Given the description of an element on the screen output the (x, y) to click on. 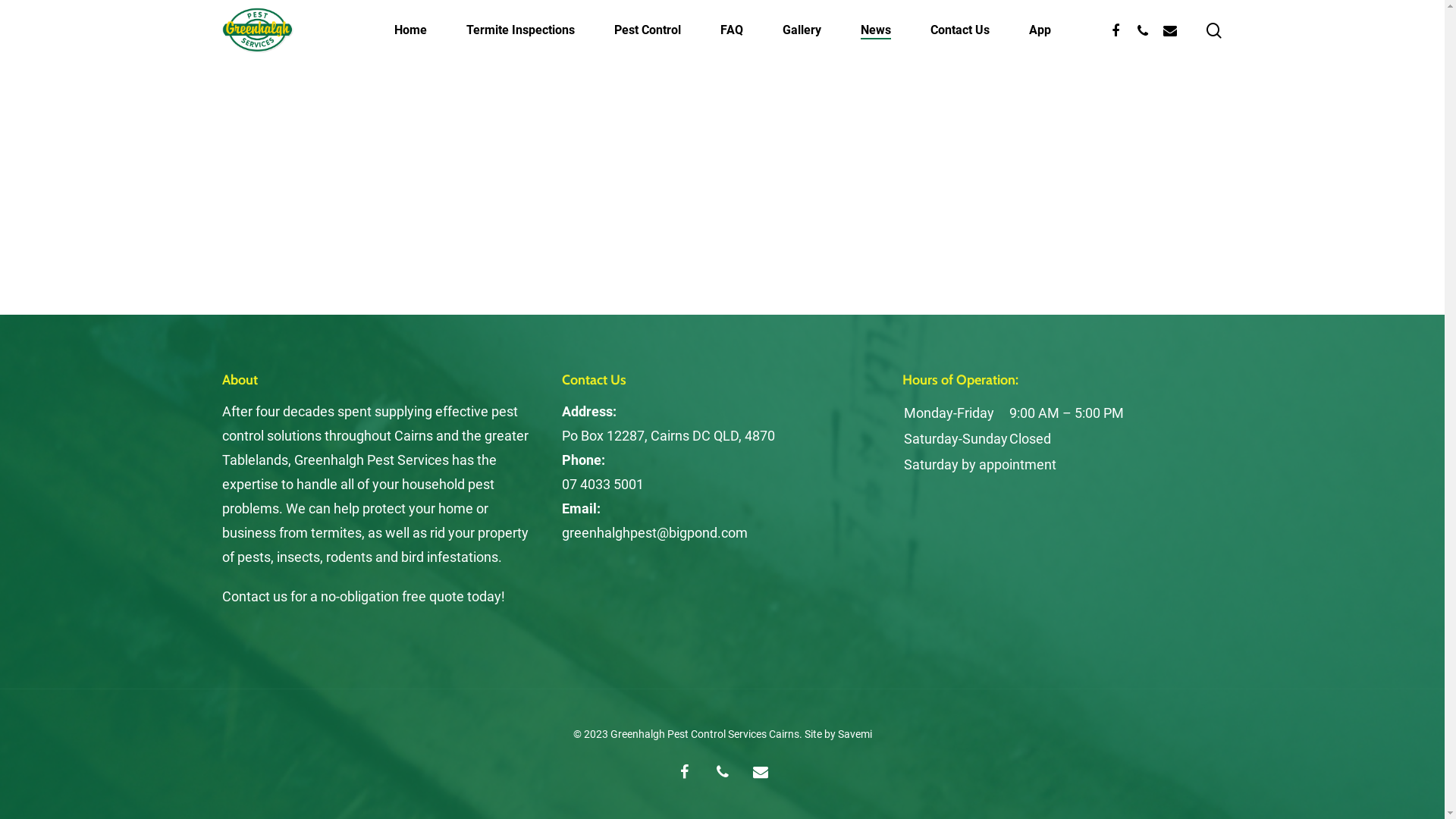
App Element type: text (1039, 30)
Contact us Element type: text (255, 596)
phone Element type: text (1141, 30)
facebook Element type: text (1114, 30)
Savemi Element type: text (854, 734)
email Element type: text (1169, 30)
News Element type: text (874, 30)
phone Element type: text (722, 772)
email Element type: text (760, 772)
Contact Us Element type: text (958, 30)
Home Element type: text (410, 30)
Termite Inspections Element type: text (519, 30)
Gallery Element type: text (801, 30)
Po Box 12287, Cairns DC QLD, 4870 Element type: text (668, 435)
Pest Control Element type: text (647, 30)
FAQ Element type: text (731, 30)
search Element type: text (1213, 30)
greenhalghpest@bigpond.com Element type: text (654, 532)
07 4033 5001 Element type: text (602, 484)
facebook Element type: text (684, 772)
